Given the description of an element on the screen output the (x, y) to click on. 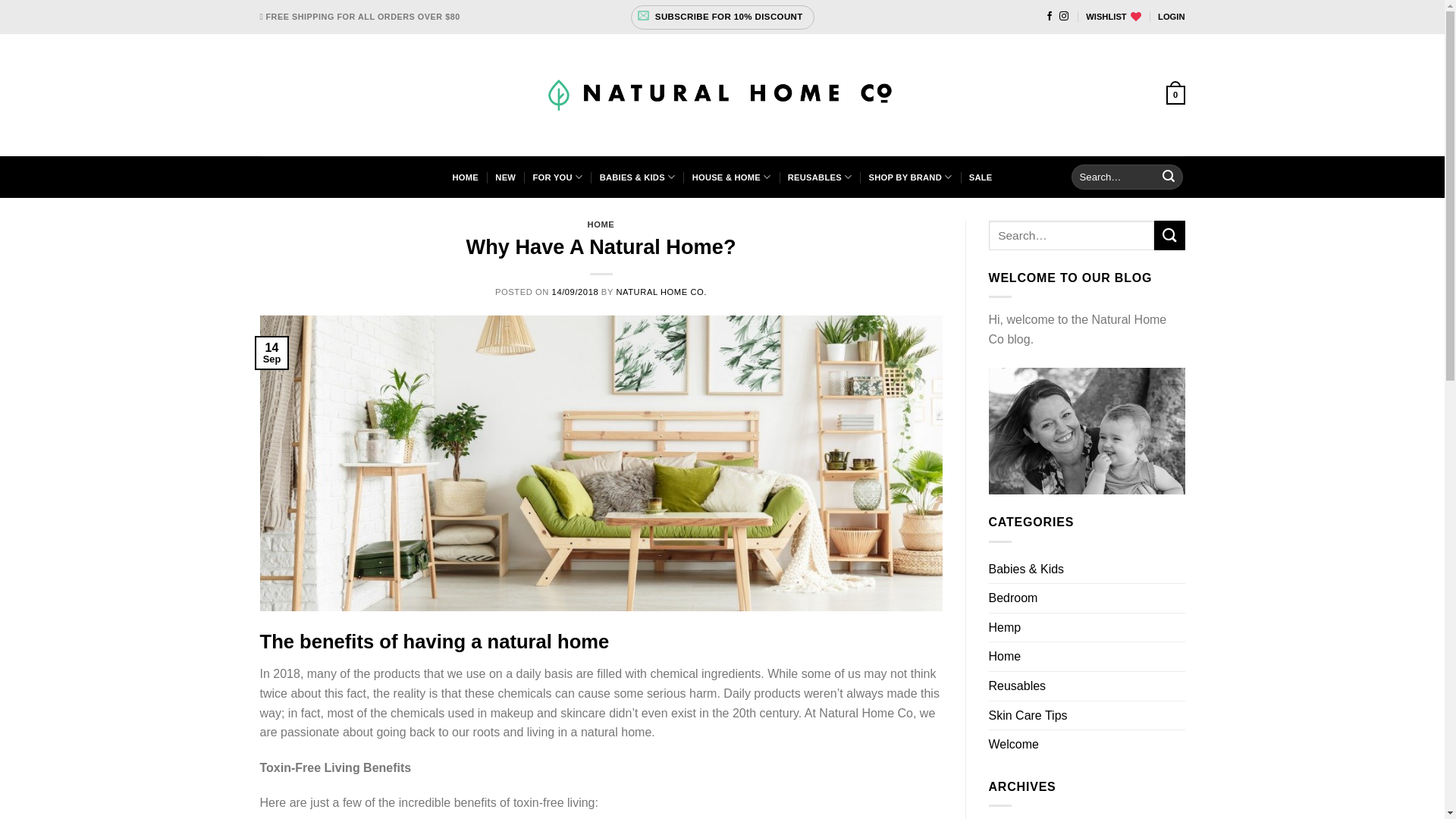
NEW Element type: text (505, 177)
LOGIN Element type: text (1170, 17)
14/09/2018 Element type: text (575, 291)
Skin Care Tips Element type: text (1027, 715)
WISHLIST Element type: text (1112, 17)
Natural Home Co Element type: hover (721, 94)
Home Element type: text (1004, 656)
0 Element type: text (1175, 94)
HOUSE & HOME Element type: text (731, 176)
REUSABLES Element type: text (819, 176)
Bedroom Element type: text (1013, 597)
Search Element type: text (1168, 177)
Babies & Kids Element type: text (1026, 569)
Hemp Element type: text (1004, 627)
HOME Element type: text (464, 177)
NATURAL HOME CO. Element type: text (660, 291)
SUBSCRIBE FOR 10% DISCOUNT Element type: text (722, 16)
Welcome Element type: text (1013, 744)
SALE Element type: text (980, 177)
SHOP BY BRAND Element type: text (910, 176)
HOME Element type: text (601, 224)
BABIES & KIDS Element type: text (637, 176)
Reusables Element type: text (1017, 685)
FOR YOU Element type: text (557, 176)
